Given the description of an element on the screen output the (x, y) to click on. 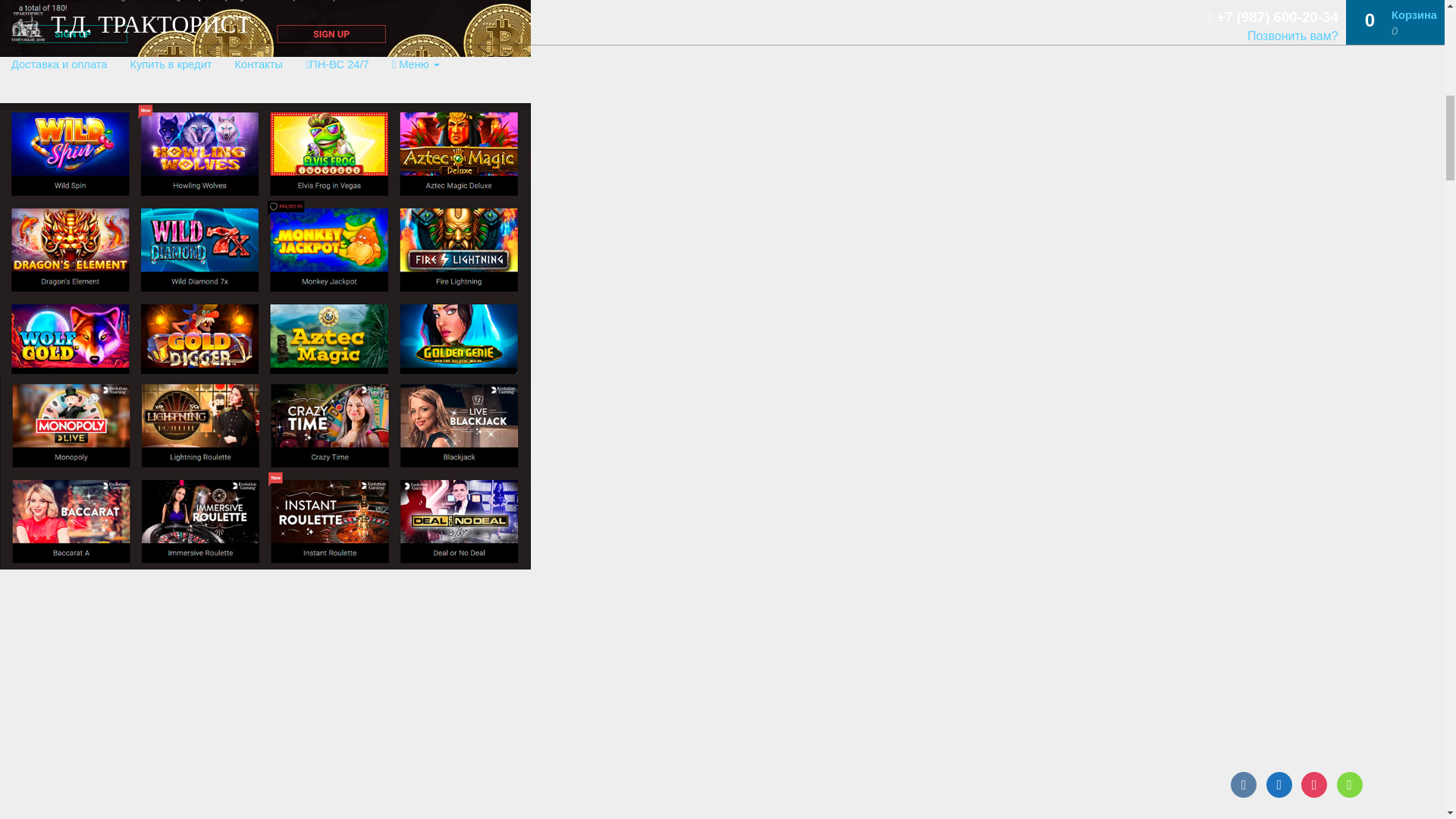
Seminole nation casino hours (265, 28)
